Given the description of an element on the screen output the (x, y) to click on. 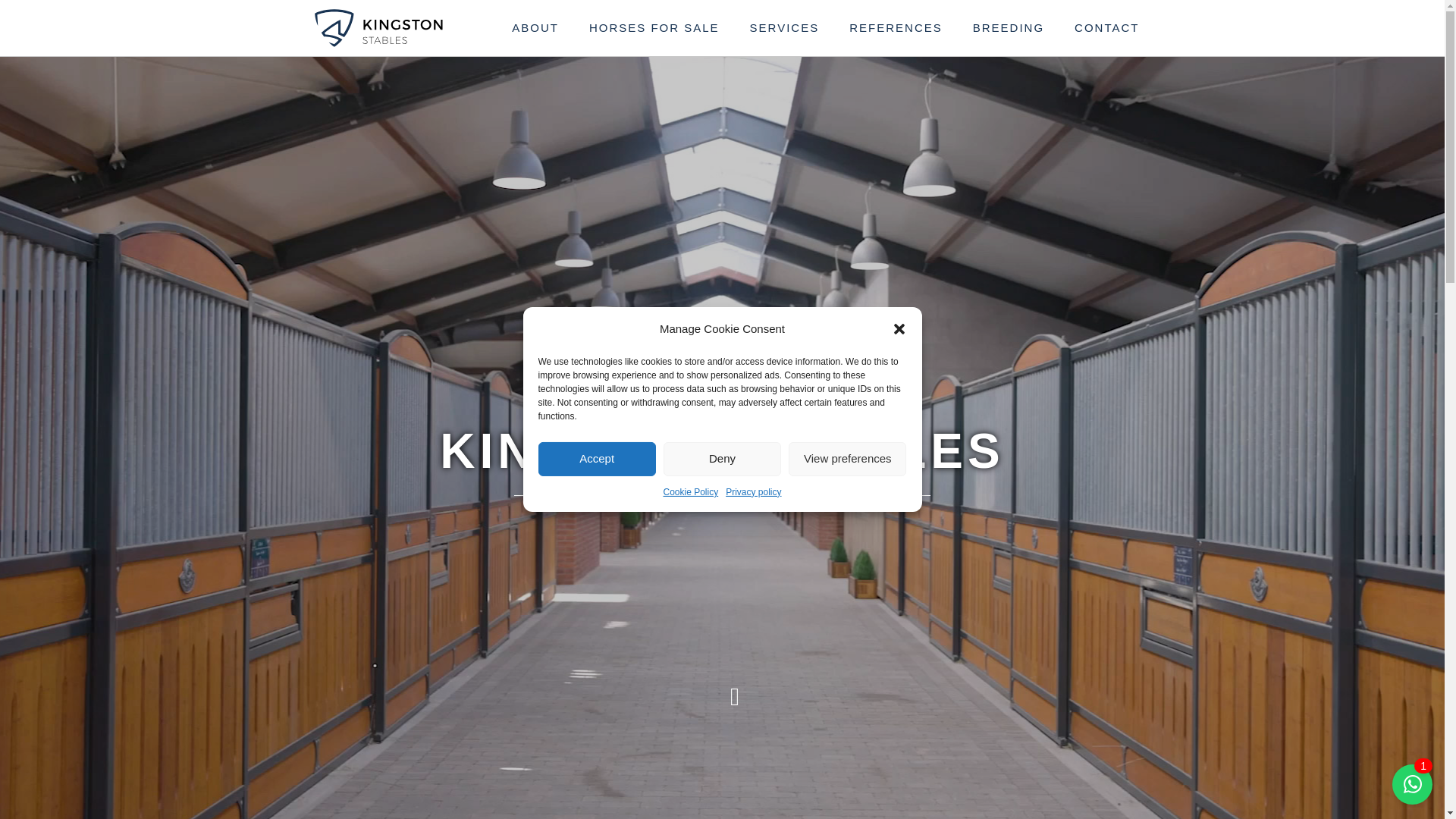
Privacy policy (752, 492)
HORSES FOR SALE (654, 28)
Cookie Policy (689, 492)
BREEDING (1008, 28)
Deny (721, 458)
Accept (597, 458)
SERVICES (784, 28)
View preferences (847, 458)
ABOUT (534, 28)
REFERENCES (896, 28)
CONTACT (1106, 28)
